Given the description of an element on the screen output the (x, y) to click on. 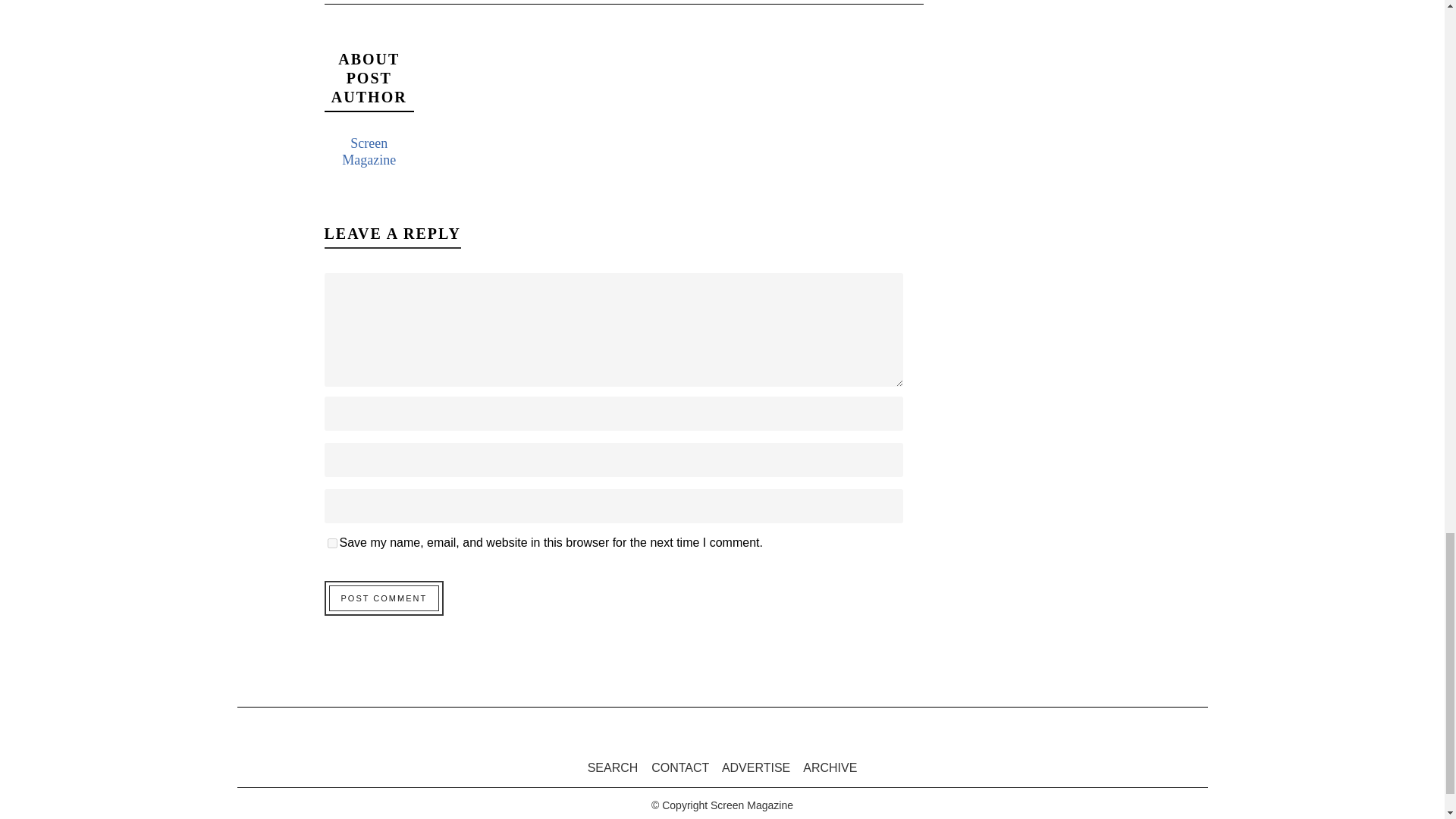
Posts by Screen Magazine (369, 151)
Post Comment (384, 597)
yes (332, 542)
